Given the description of an element on the screen output the (x, y) to click on. 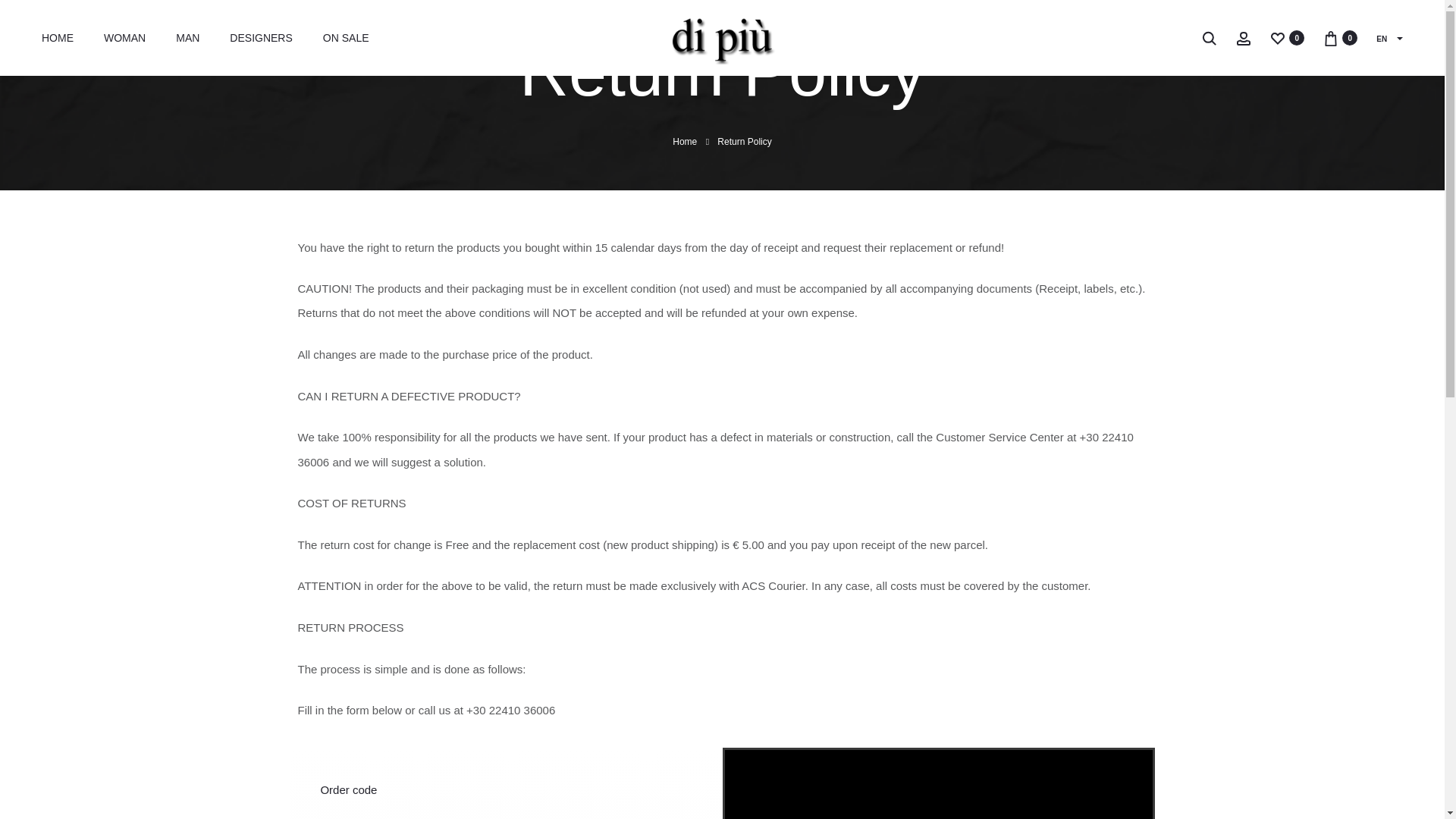
HOME (58, 37)
WOMAN (124, 37)
Home (684, 141)
ON SALE (346, 37)
0 (1277, 37)
DESIGNERS (261, 37)
0 (1330, 37)
MAN (187, 37)
